Given the description of an element on the screen output the (x, y) to click on. 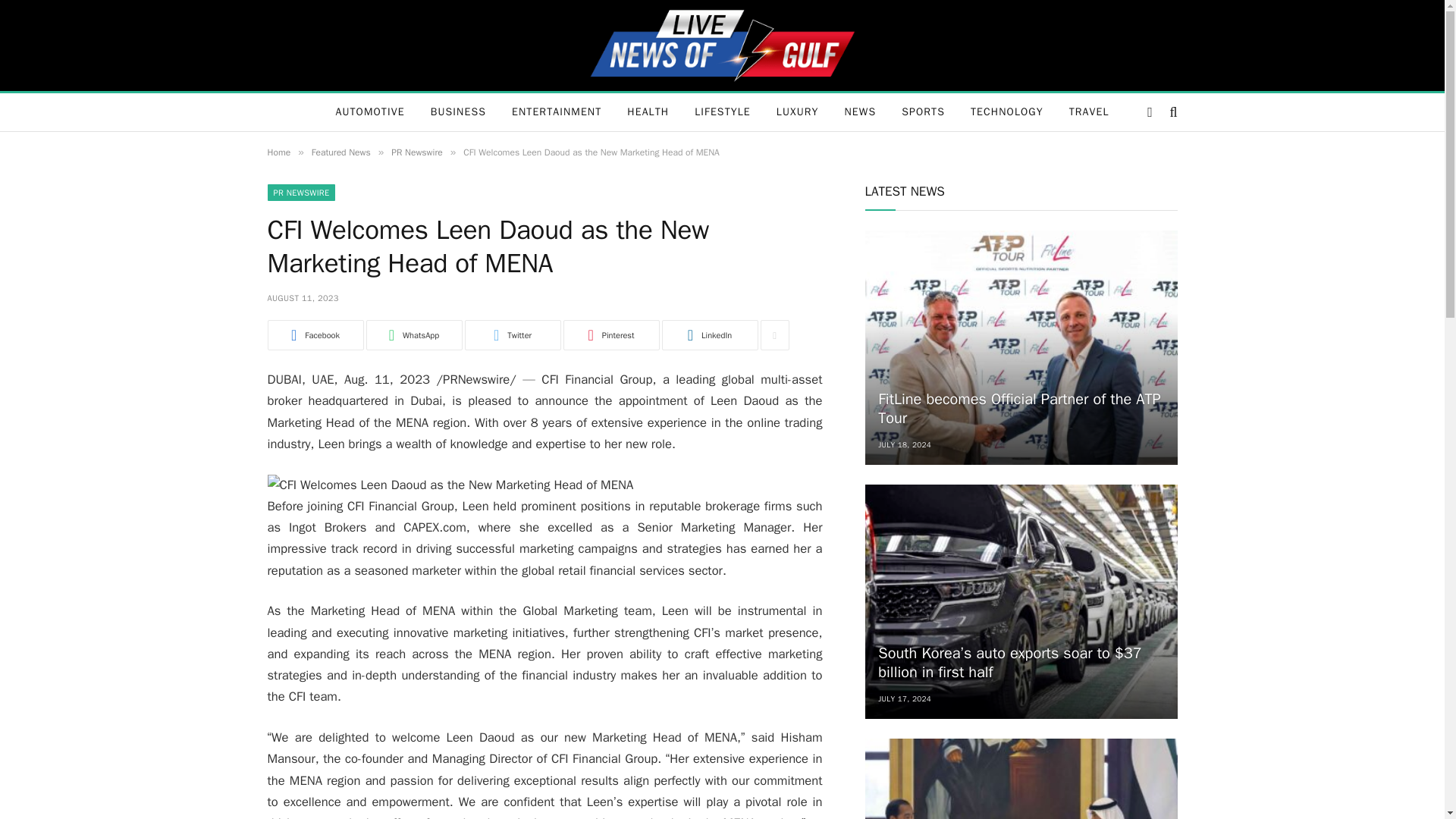
HEALTH (647, 112)
Share on LinkedIn (709, 335)
LinkedIn (709, 335)
PR NEWSWIRE (300, 192)
Featured News (341, 152)
Share on WhatsApp (413, 335)
BUSINESS (458, 112)
Pinterest (610, 335)
TRAVEL (1089, 112)
LIFESTYLE (721, 112)
Twitter (512, 335)
WhatsApp (413, 335)
AUTOMOTIVE (368, 112)
Share on Pinterest (610, 335)
News of Gulf (722, 45)
